Given the description of an element on the screen output the (x, y) to click on. 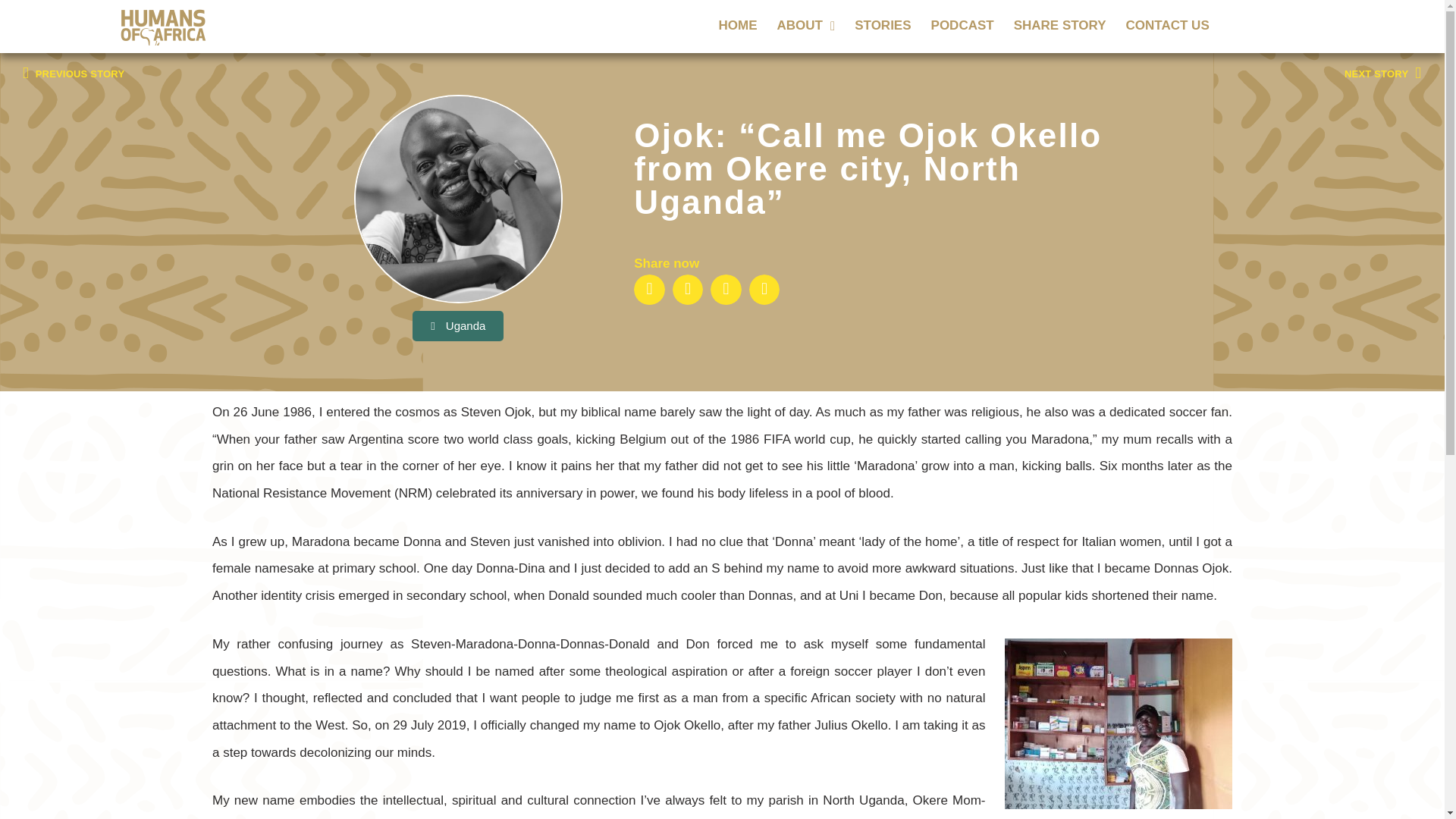
HOA logo 1 (163, 26)
CONTACT US (1168, 25)
Uganda (457, 326)
HOME (738, 25)
PREVIOUS STORY (372, 73)
ABOUT (806, 25)
STORIES (882, 25)
NEXT STORY (1382, 73)
SHARE STORY (1060, 25)
PODCAST (962, 25)
